Given the description of an element on the screen output the (x, y) to click on. 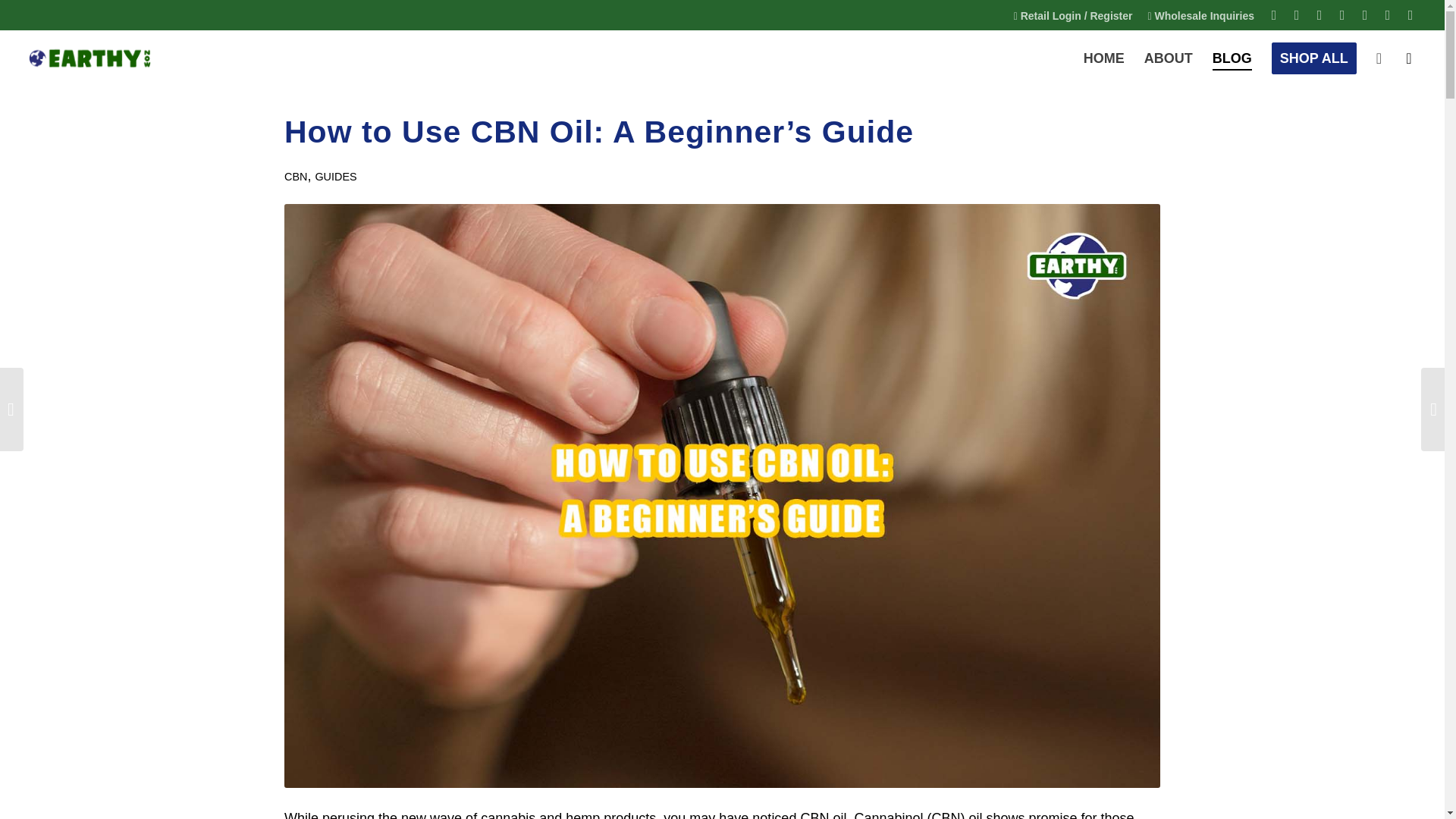
GUIDES (335, 176)
You are not logged in. (1072, 15)
SHOP ALL (1314, 58)
2022.7.15.EarthyNow.Logo.Horizontal.ForWebsiteCorner.v5 (90, 58)
HOME (1104, 58)
ABOUT (1168, 58)
BLOG (1232, 58)
CBN (295, 176)
Wholesale Inquiries (1201, 15)
